Given the description of an element on the screen output the (x, y) to click on. 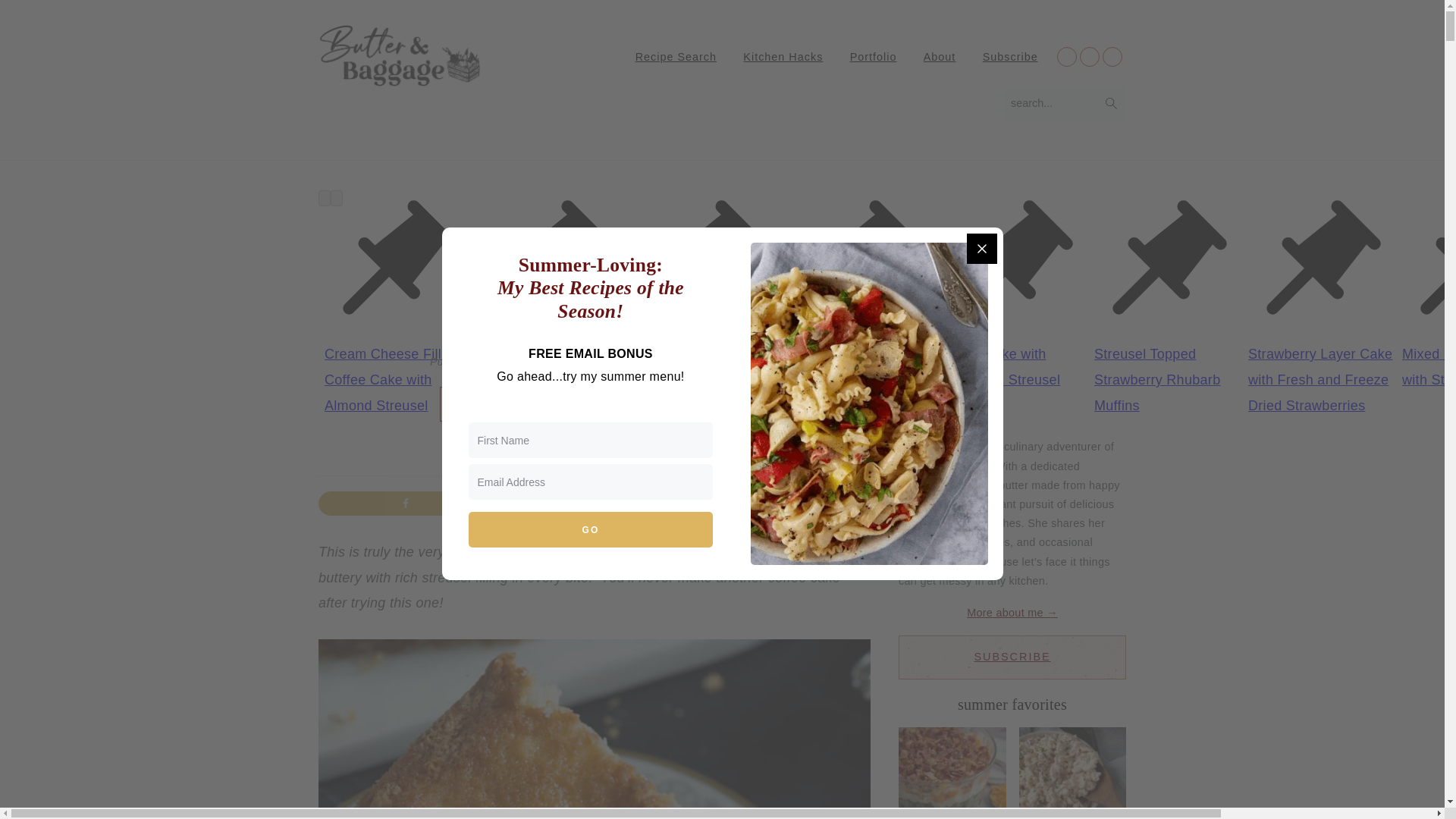
Portfolio (873, 56)
Kitchen Hacks (783, 56)
Subscribe (1010, 56)
Share on Facebook (406, 503)
Recipe Search (676, 56)
Save to Pinterest (782, 503)
About (940, 56)
Share on X (594, 503)
